Given the description of an element on the screen output the (x, y) to click on. 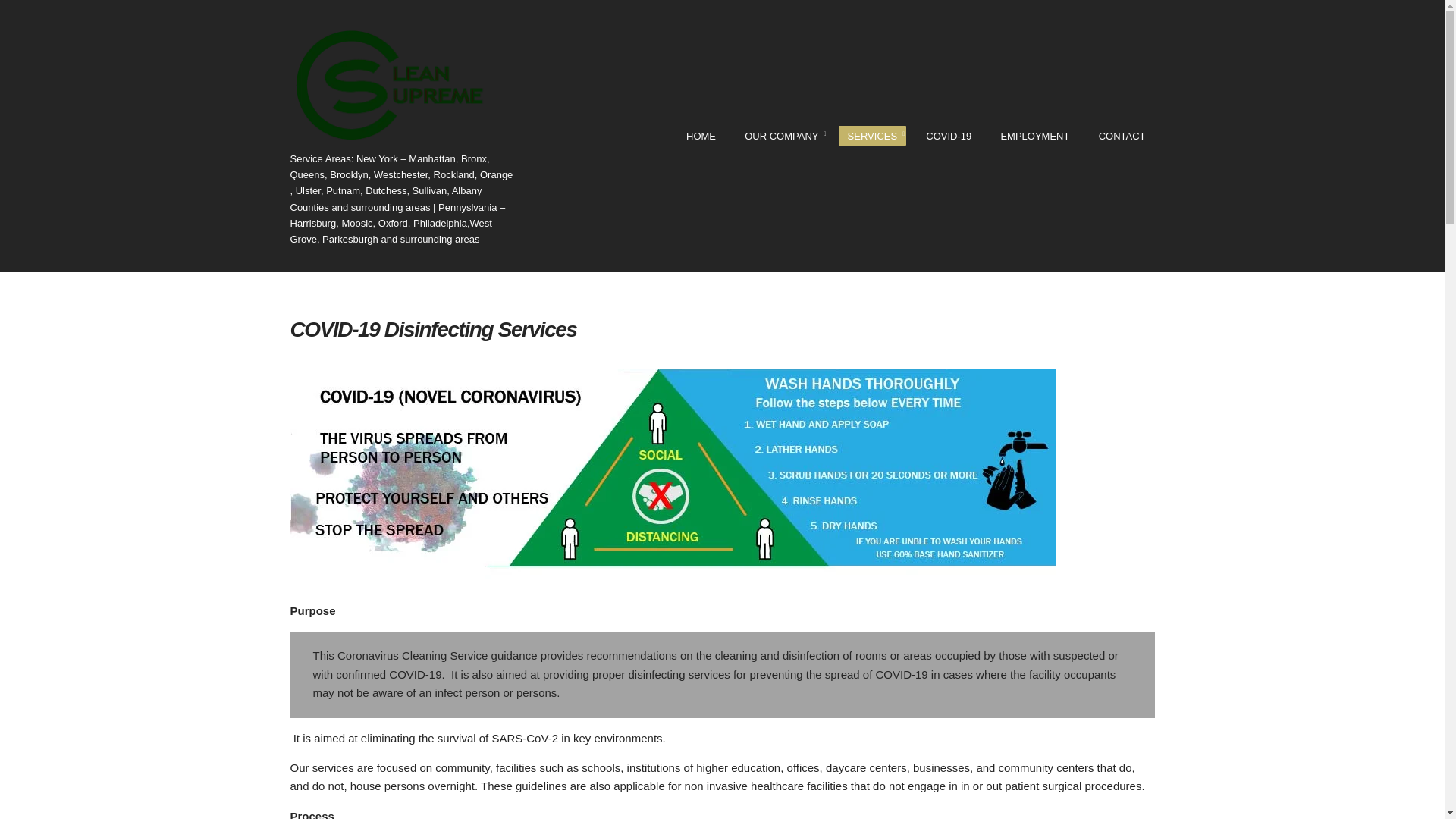
EMPLOYMENT (1034, 135)
OUR COMPANY (781, 135)
CONTACT (1121, 135)
SERVICES (872, 135)
HOME (701, 135)
COVID-19 (948, 135)
